Given the description of an element on the screen output the (x, y) to click on. 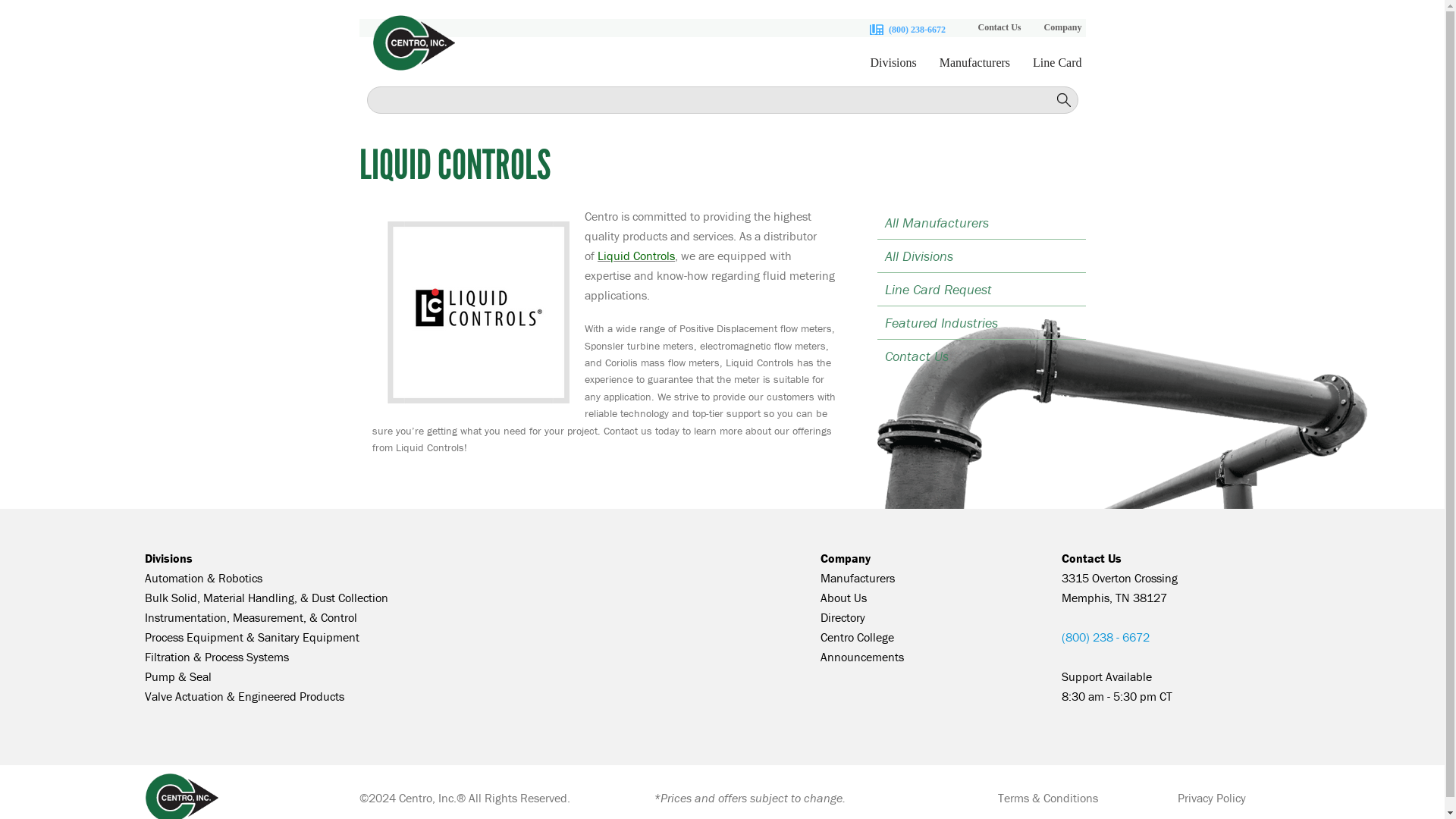
Company (845, 557)
Featured Industries (980, 322)
Manufacturers (974, 70)
Contact Us (1091, 557)
Manufacturers (858, 577)
Directory (842, 616)
All Manufacturers (980, 222)
All Divisions (980, 255)
Divisions (168, 557)
Centro College (857, 636)
Liquid Controls (635, 255)
Search (1064, 100)
Line Card Request (980, 288)
Divisions (893, 70)
Contact Us (999, 26)
